Given the description of an element on the screen output the (x, y) to click on. 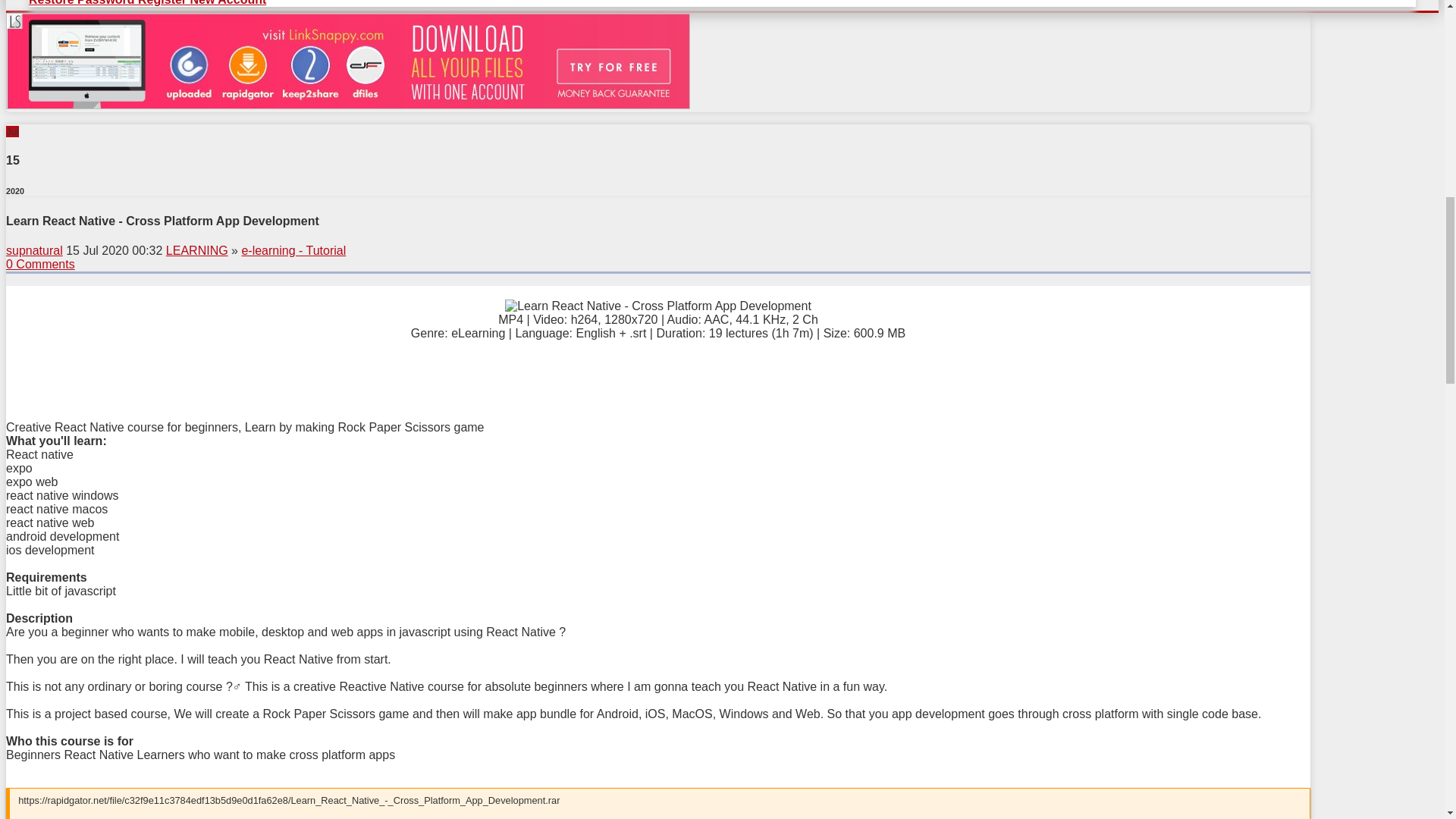
Get account now! (347, 104)
